Given the description of an element on the screen output the (x, y) to click on. 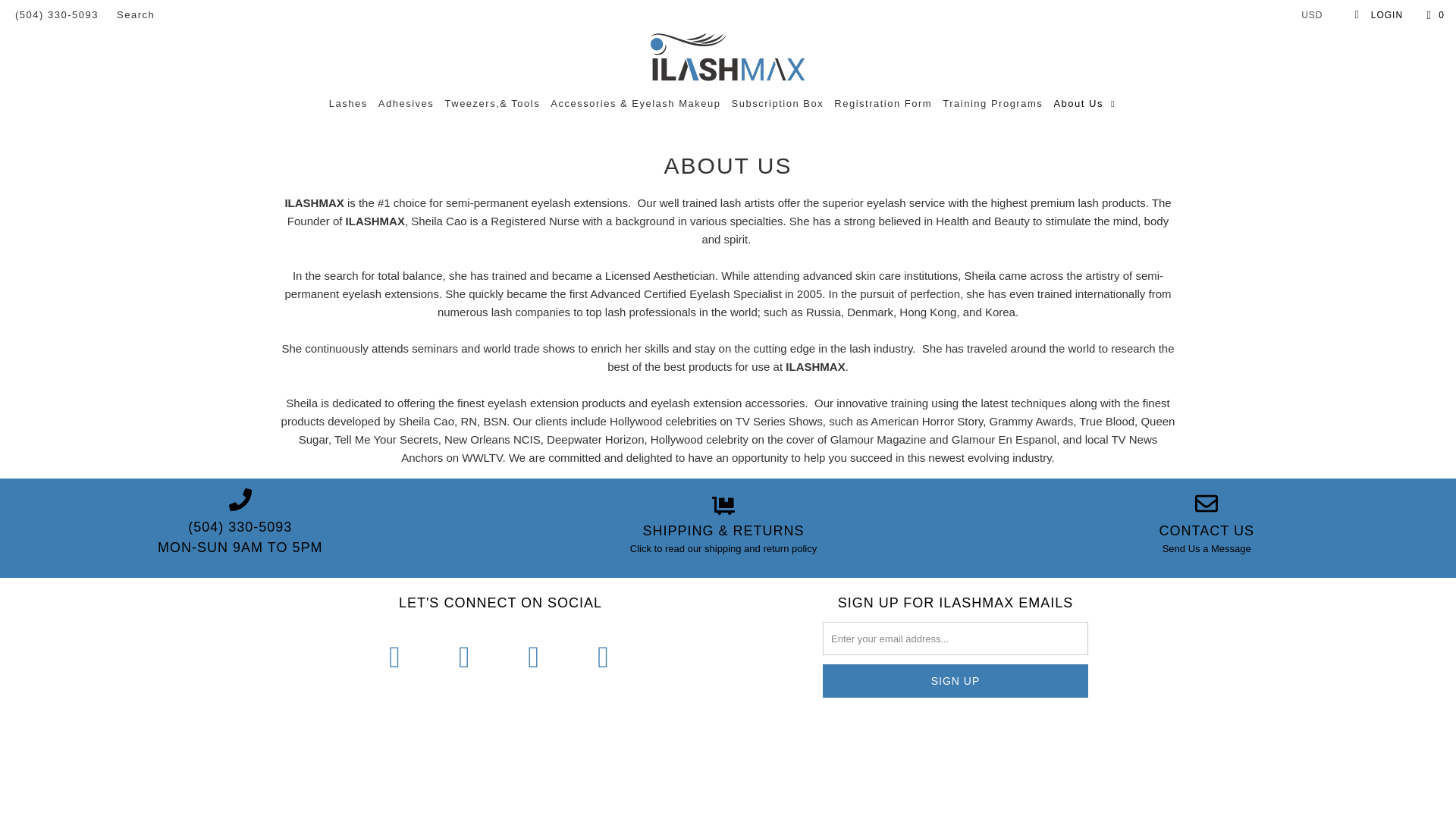
Lashes (348, 103)
Registration Form (882, 103)
ILASHMAX on Twitter (395, 656)
LOGIN (1377, 15)
Search (135, 15)
My Account  (1377, 15)
ILASHMAX on Facebook (464, 656)
Adhesives (405, 103)
Sign Up (954, 680)
Training Programs (992, 103)
